Given the description of an element on the screen output the (x, y) to click on. 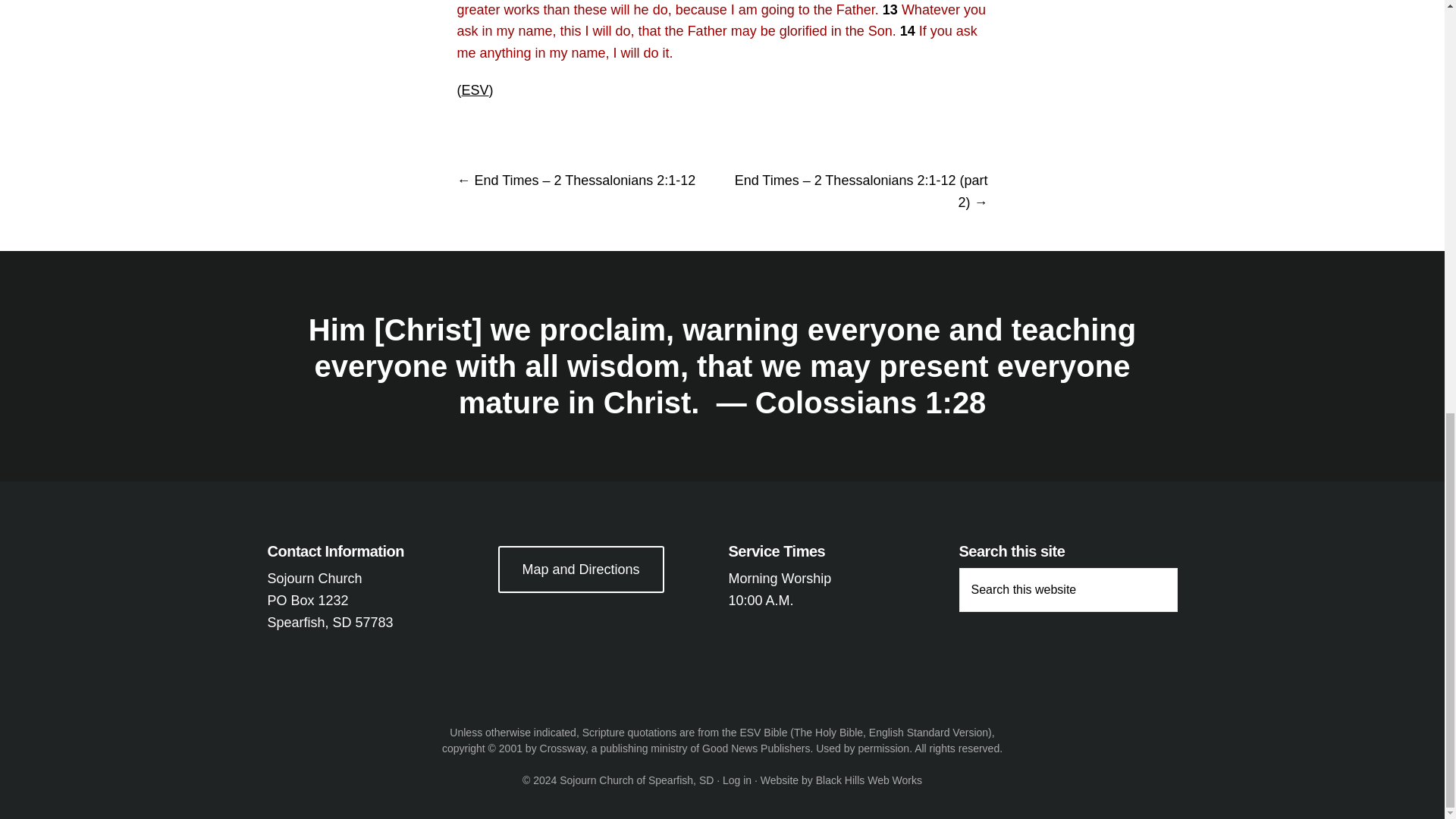
Log in (736, 779)
Map and Directions (580, 569)
ESV (474, 89)
